Given the description of an element on the screen output the (x, y) to click on. 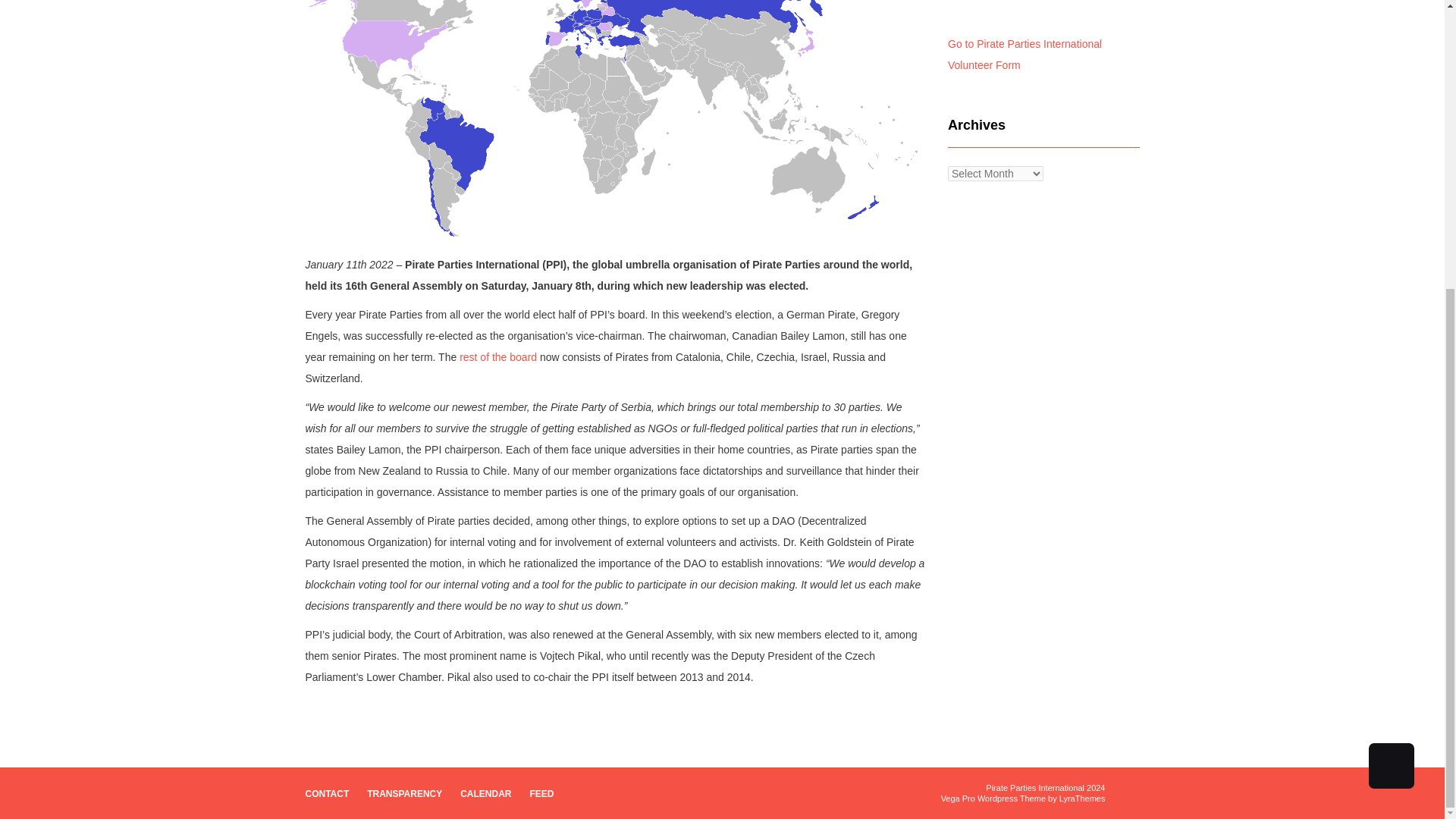
CONTACT (326, 793)
Vega Pro Wordpress Theme (992, 798)
TRANSPARENCY (404, 793)
FEED (541, 793)
Go to Pirate Parties International Volunteer Form (1024, 54)
CALENDAR (485, 793)
rest of the board (498, 357)
